Given the description of an element on the screen output the (x, y) to click on. 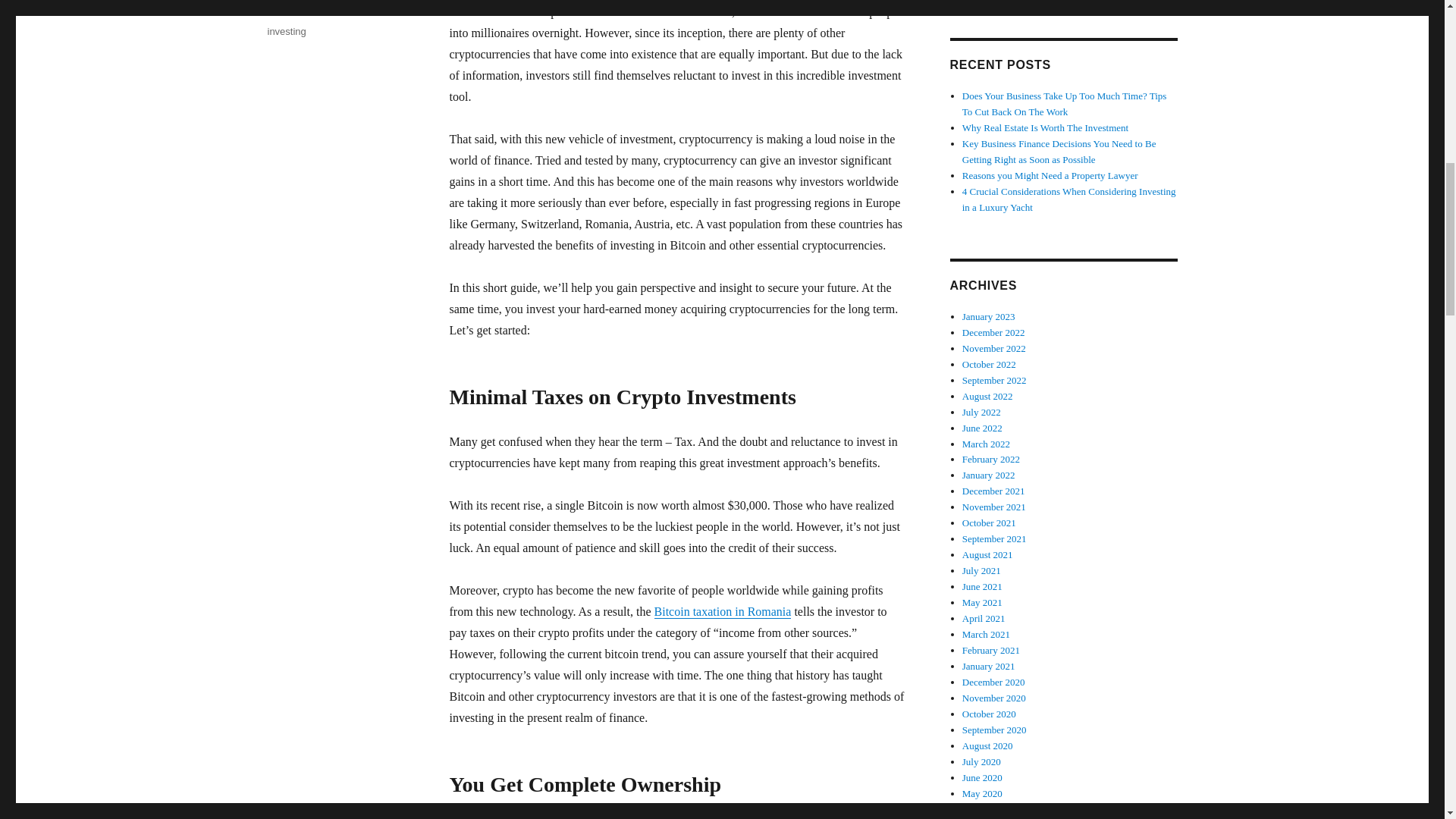
August 2022 (987, 396)
November 2022 (994, 348)
January 2023 (988, 316)
October 2022 (989, 364)
March 2022 (986, 443)
July 2022 (981, 411)
June 2022 (982, 428)
December 2021 (993, 490)
September 2022 (994, 379)
